Given the description of an element on the screen output the (x, y) to click on. 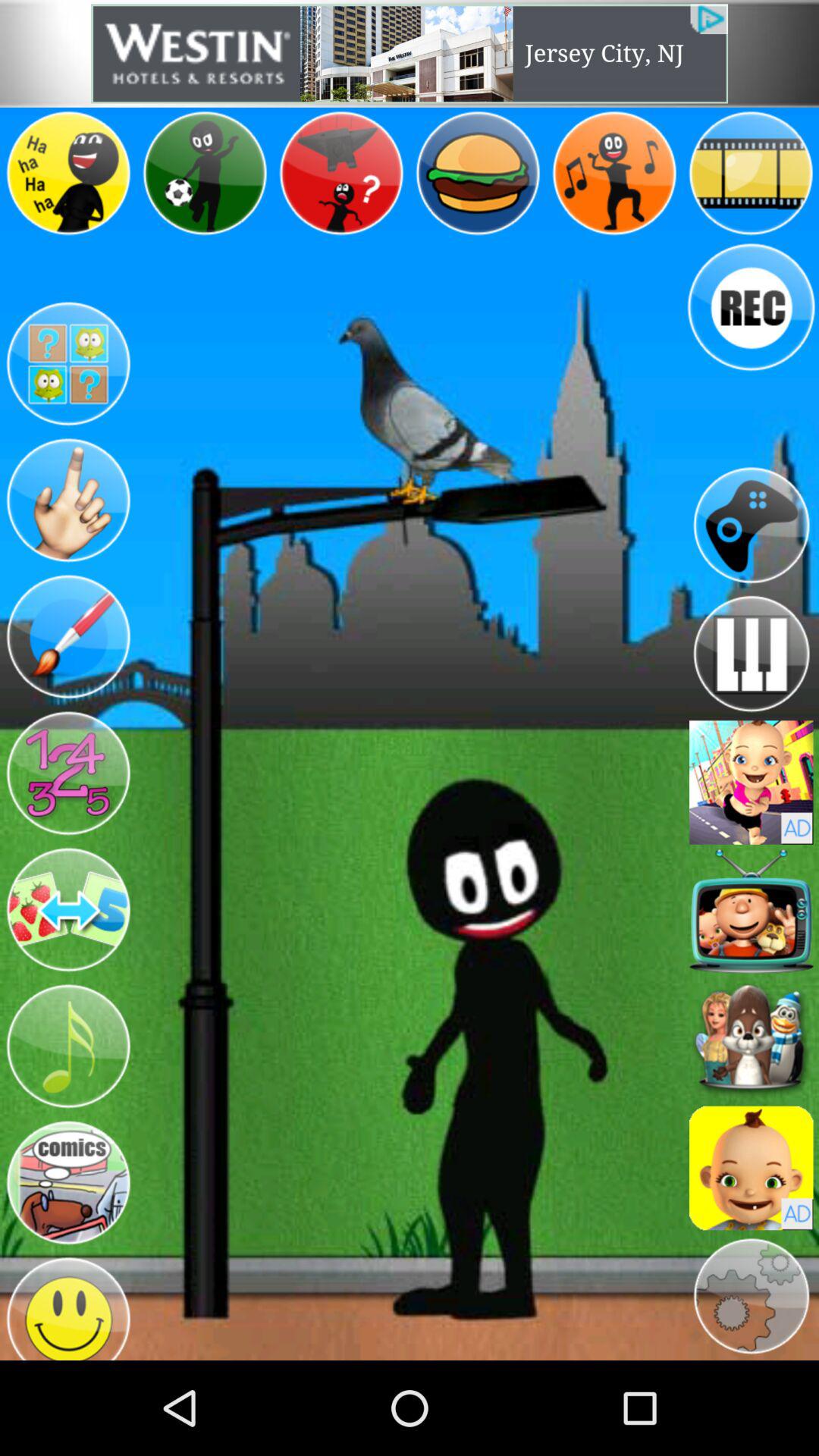
choose music (68, 1046)
